Given the description of an element on the screen output the (x, y) to click on. 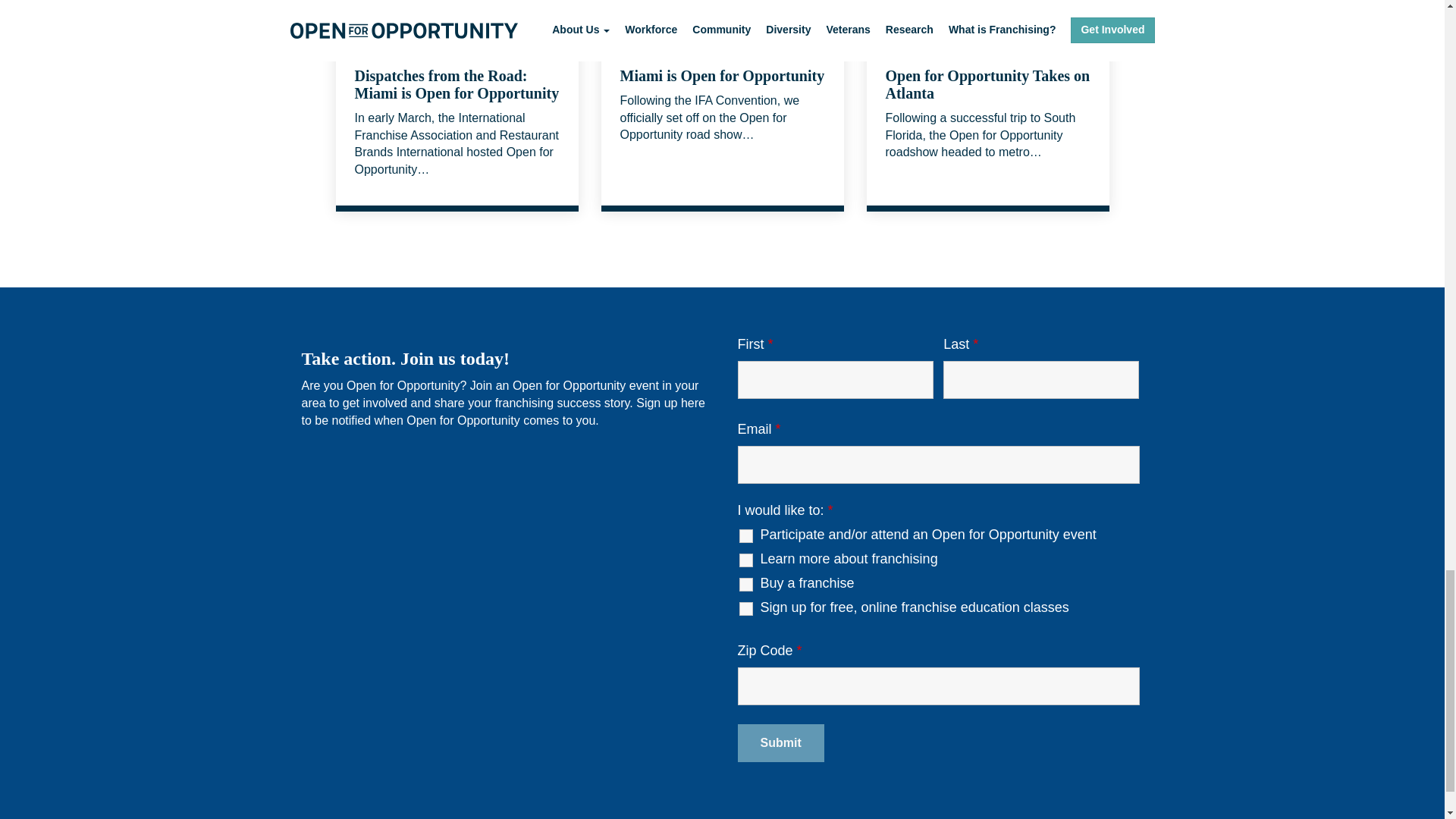
BLOG (374, 51)
Open for Opportunity Takes on Atlanta (987, 84)
BLOG (640, 51)
Dispatches from the Road: Miami is Open for Opportunity (457, 84)
Submit (780, 742)
Miami is Open for Opportunity (722, 75)
BLOG (905, 51)
